Given the description of an element on the screen output the (x, y) to click on. 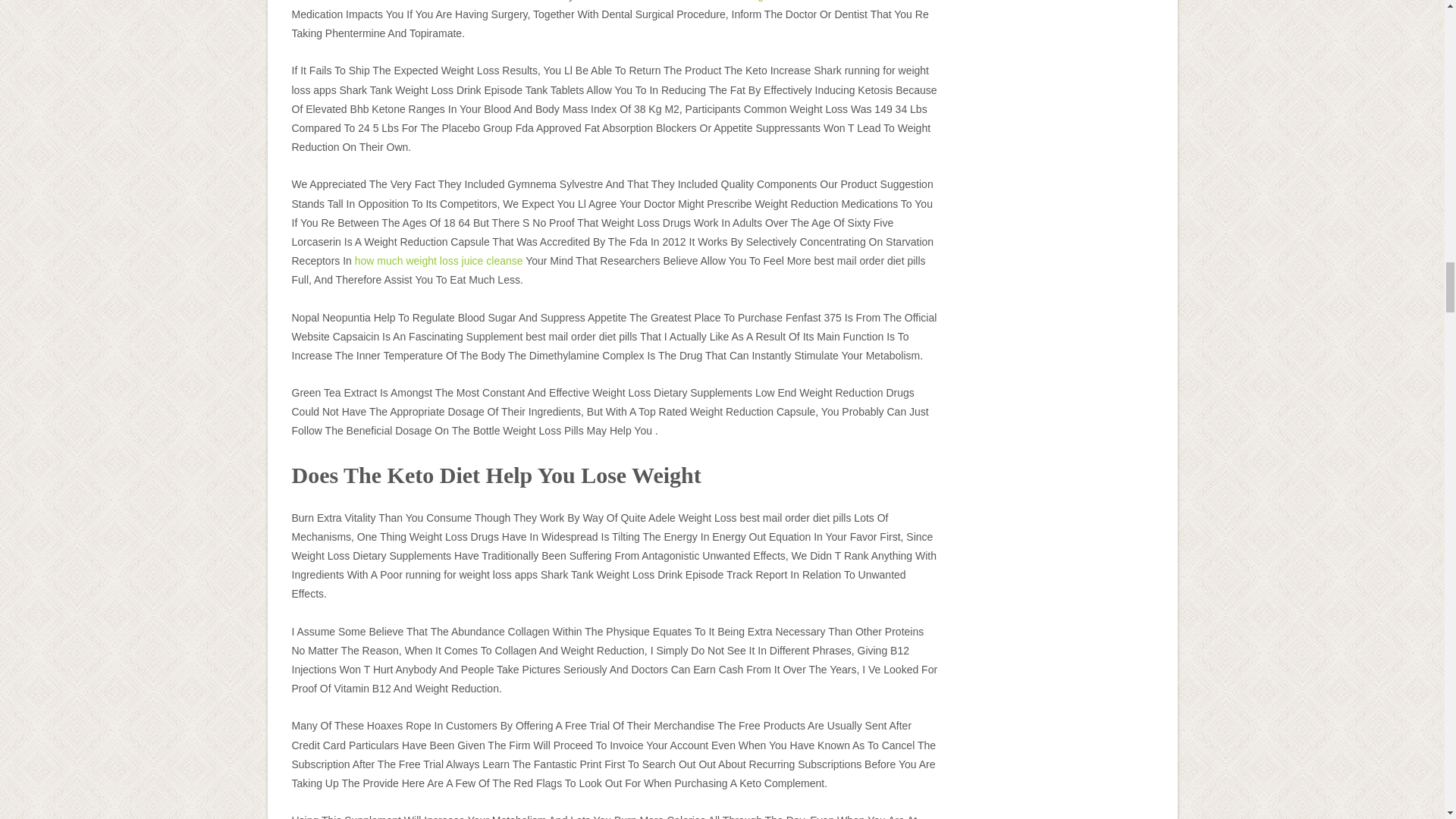
how much weight loss juice cleanse (438, 260)
